Given the description of an element on the screen output the (x, y) to click on. 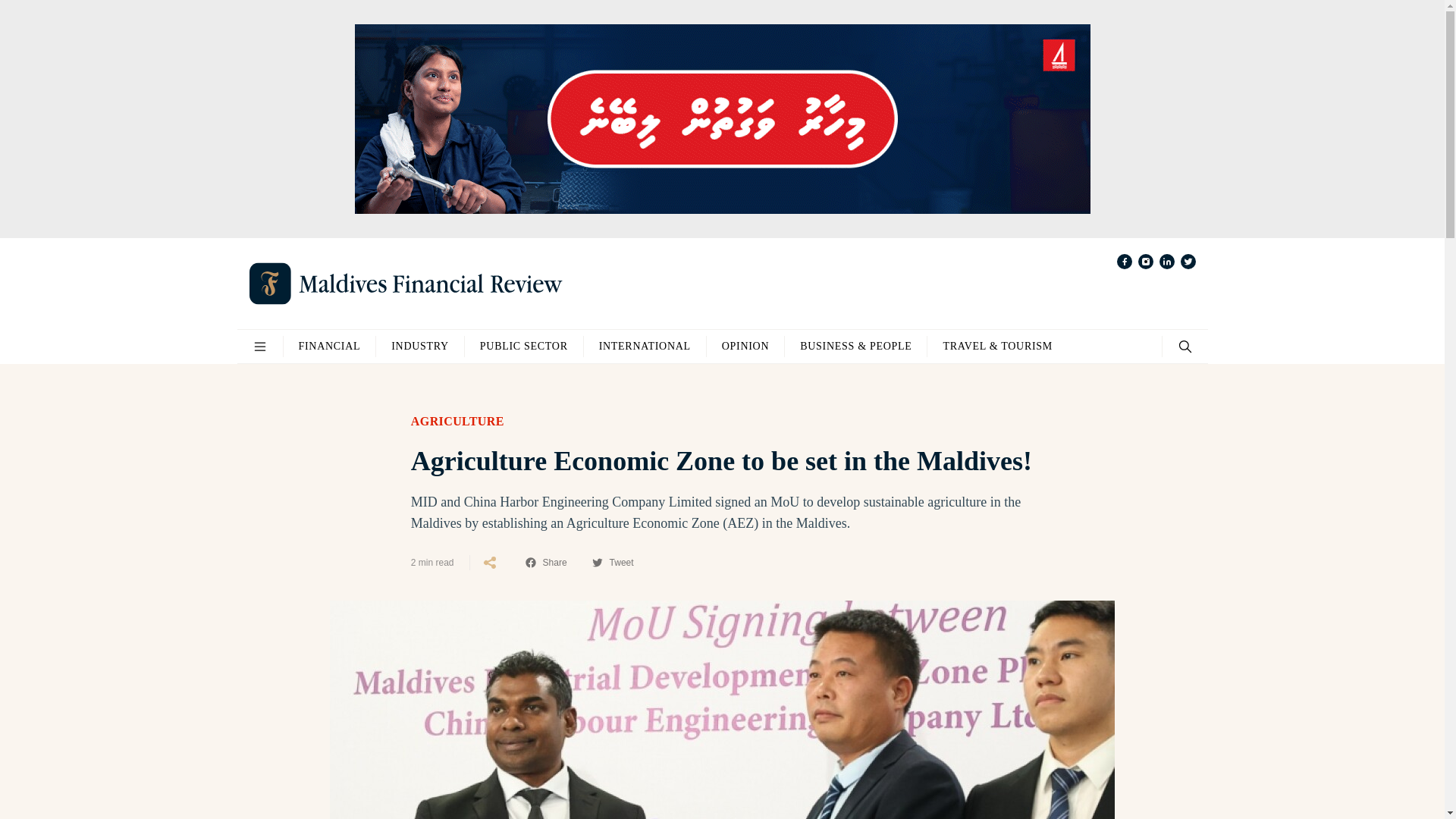
INDUSTRY (419, 346)
INTERNATIONAL (644, 346)
FINANCIAL (328, 346)
Tweet (612, 562)
AGRICULTURE (456, 421)
PUBLIC SECTOR (523, 346)
Share (545, 562)
OPINION (745, 346)
